Given the description of an element on the screen output the (x, y) to click on. 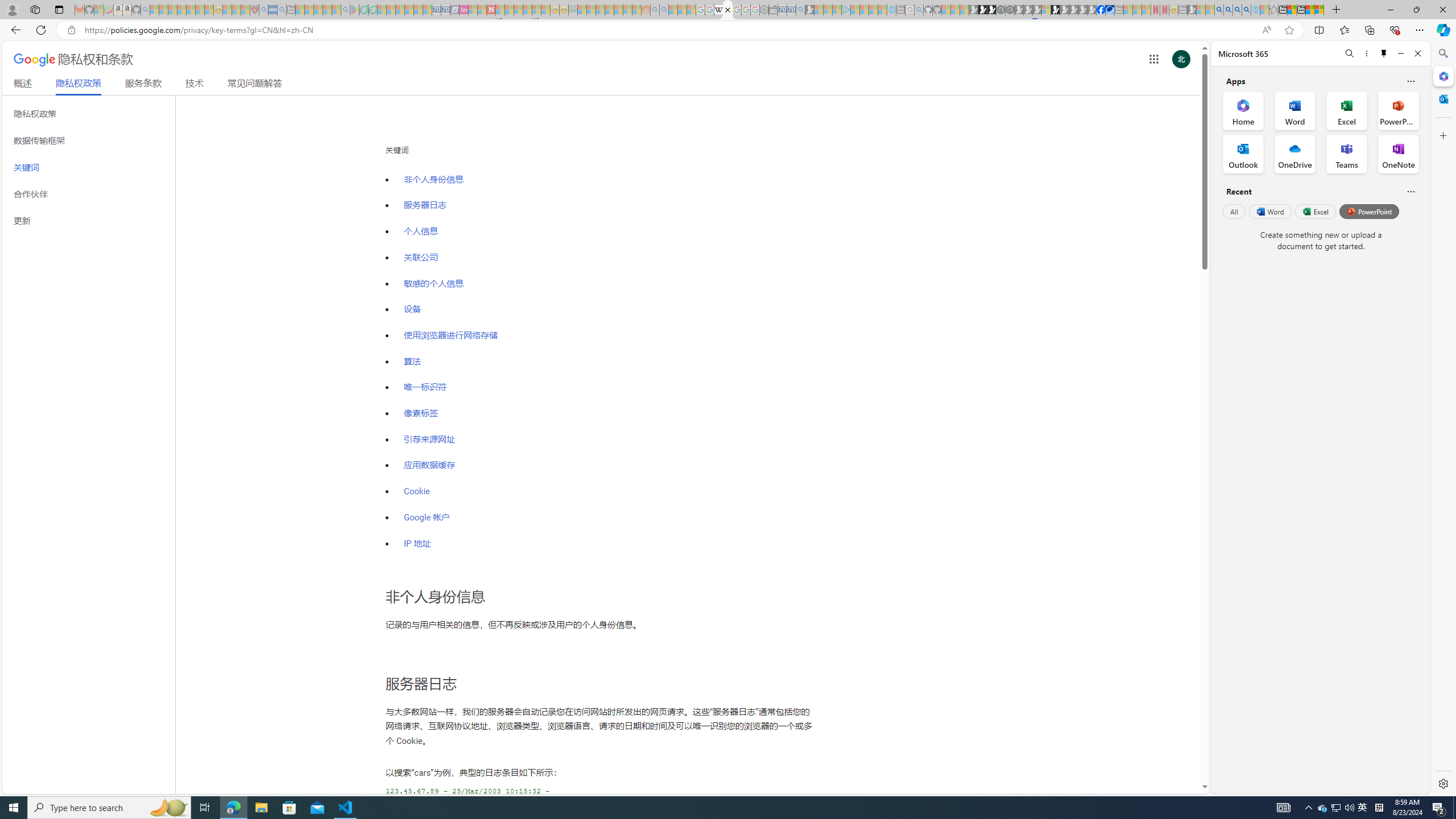
PowerPoint Office App (1398, 110)
Class: gb_E (1153, 59)
Favorites - Sleeping (1272, 9)
utah sues federal government - Search - Sleeping (281, 9)
